Given the description of an element on the screen output the (x, y) to click on. 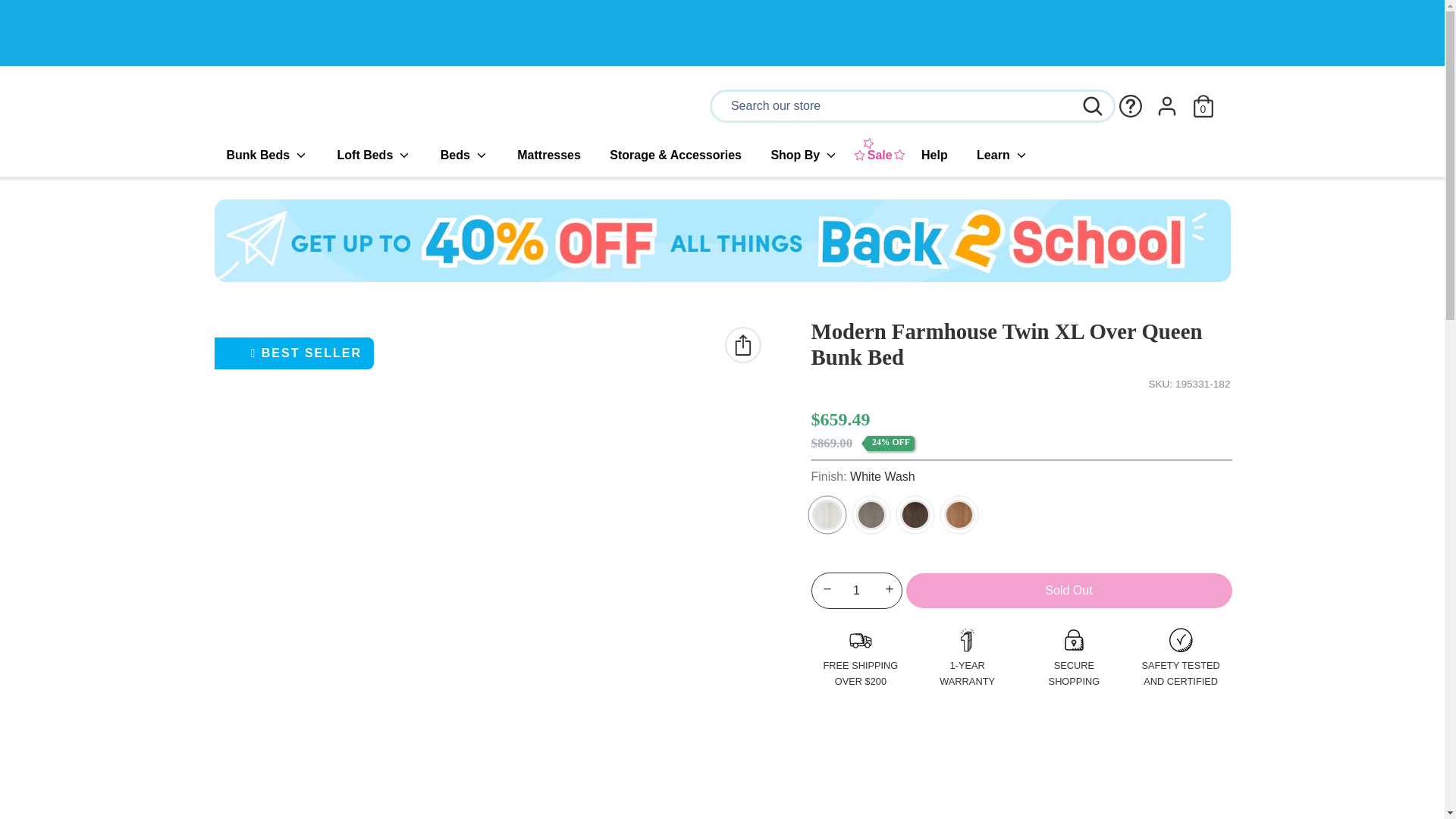
Bunk Beds (266, 155)
0 (1203, 100)
1 (856, 590)
